Given the description of an element on the screen output the (x, y) to click on. 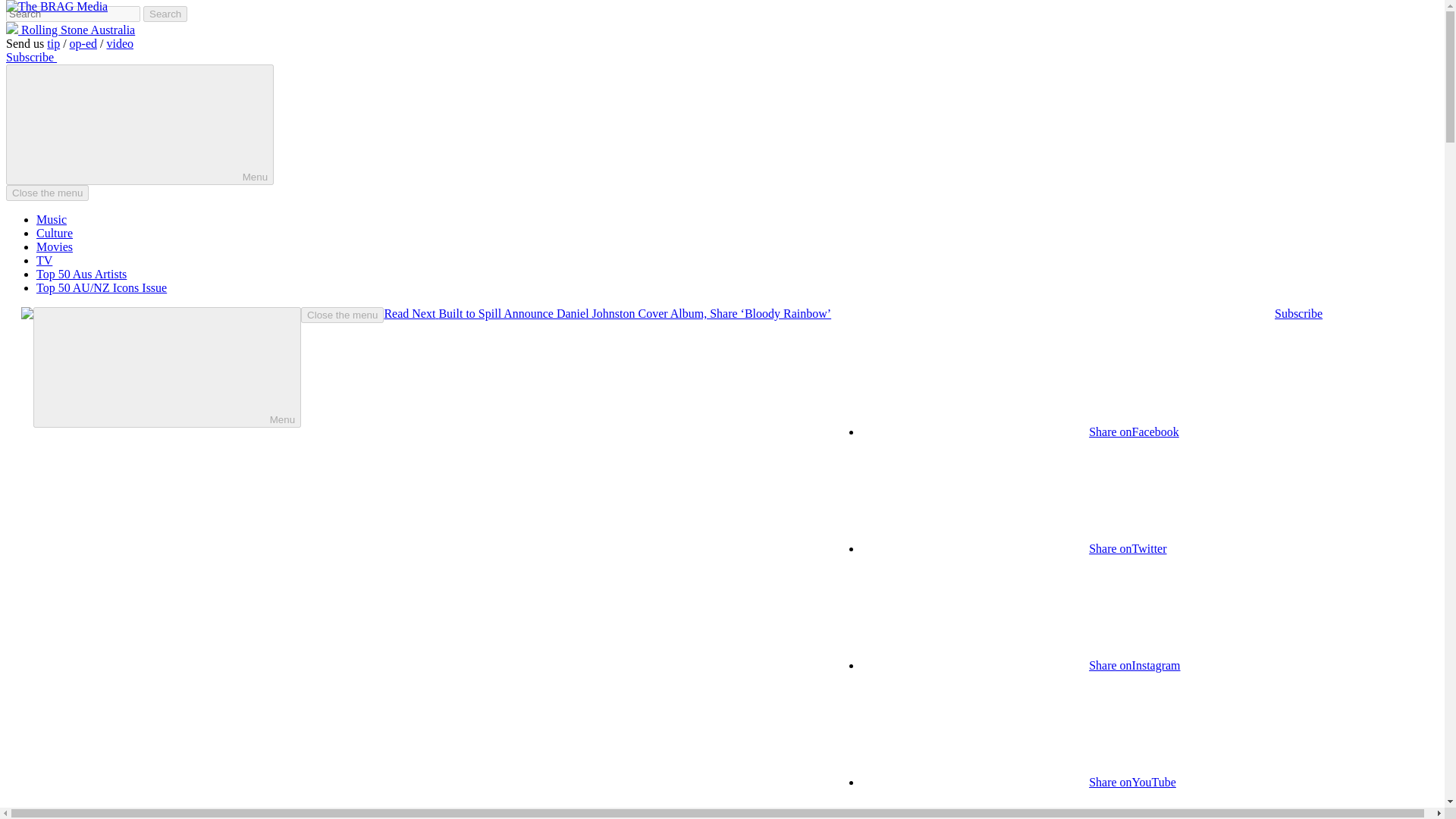
Subscribe (30, 56)
op-ed (83, 42)
Rolling Stone Australia (70, 29)
video (119, 42)
Search (164, 13)
Close the menu (46, 192)
tip (52, 42)
Search (164, 13)
Menu (139, 124)
